Given the description of an element on the screen output the (x, y) to click on. 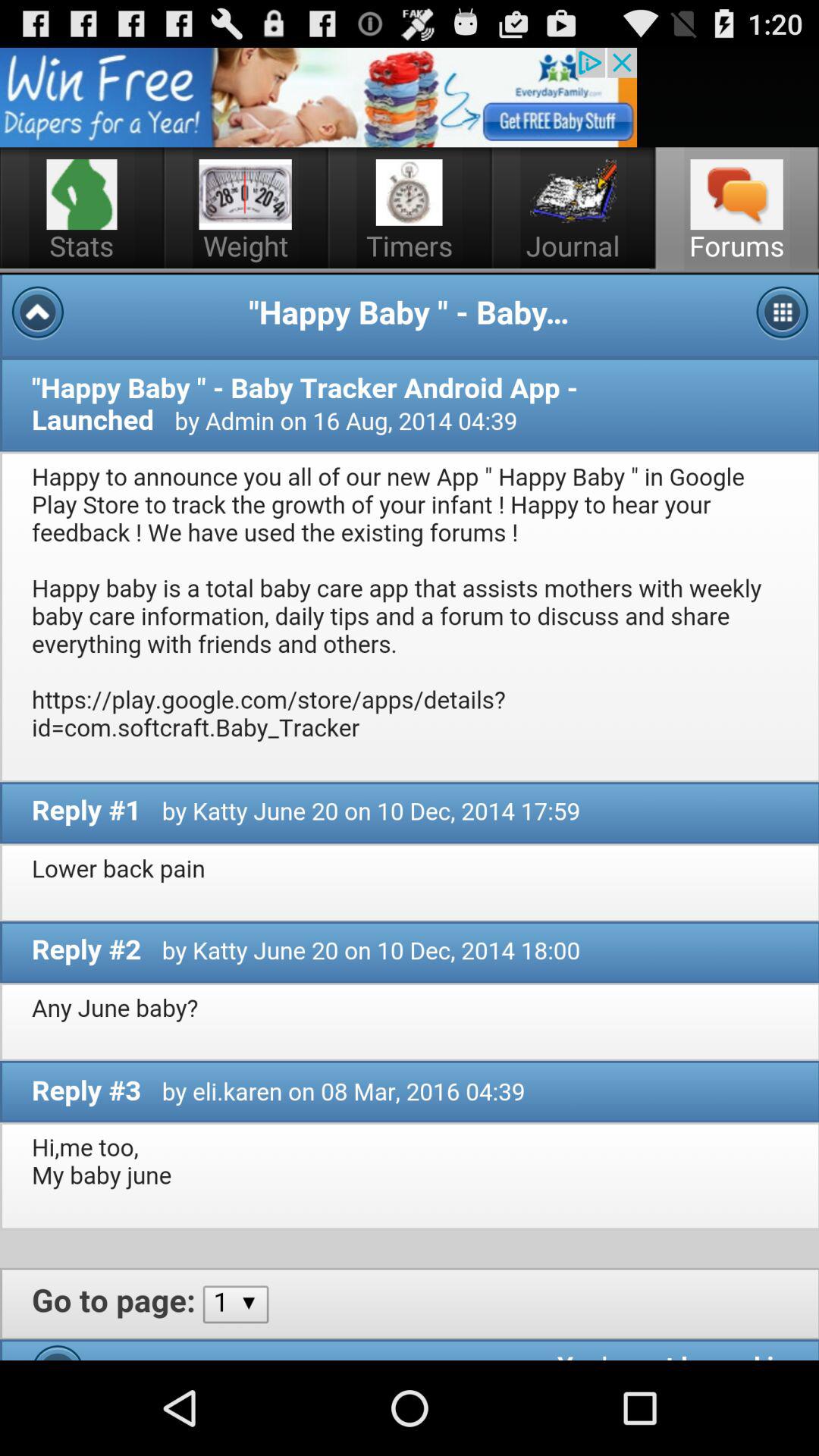
interact with advertisement (318, 97)
